Given the description of an element on the screen output the (x, y) to click on. 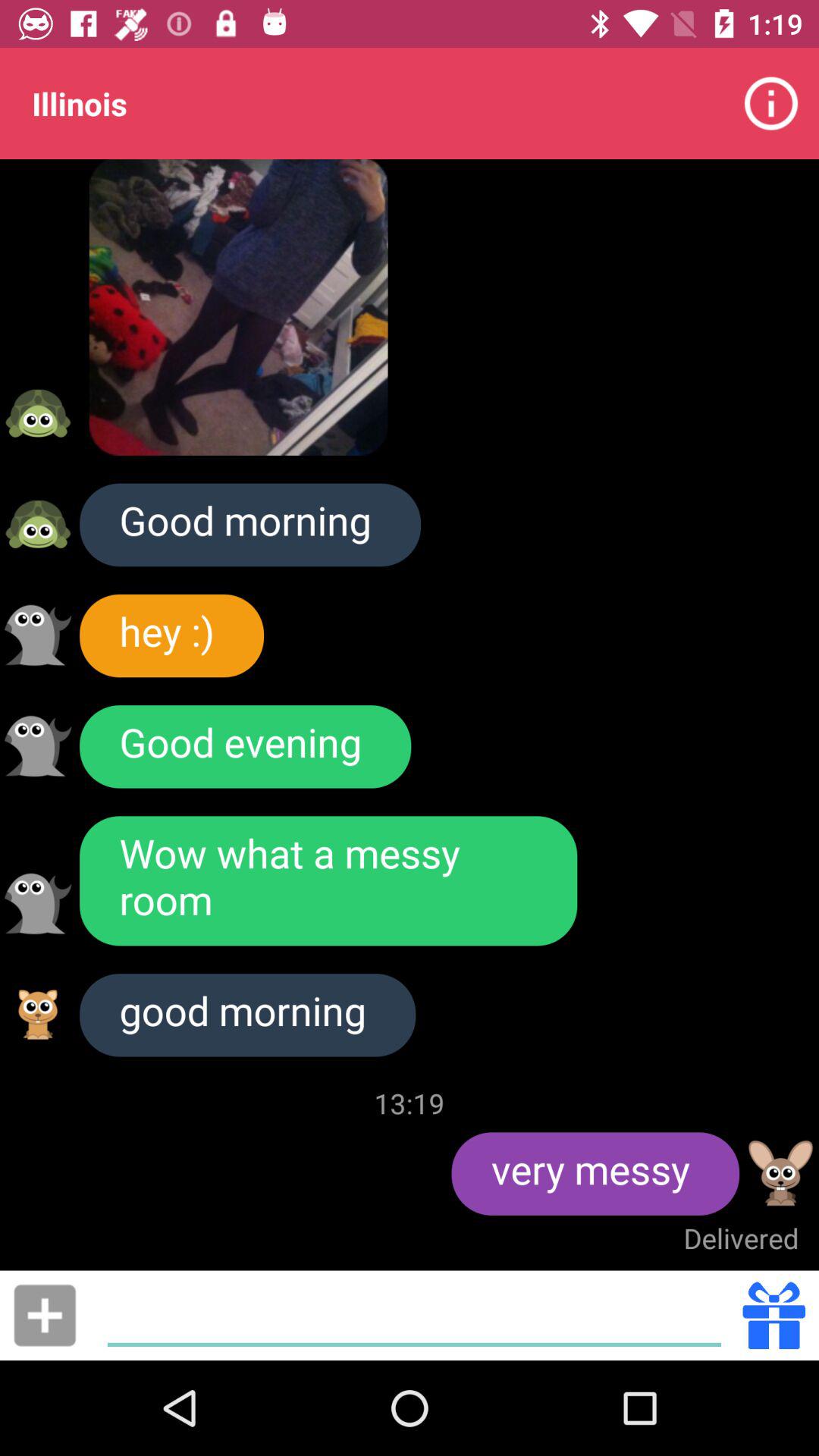
contact 's icon (38, 524)
